Given the description of an element on the screen output the (x, y) to click on. 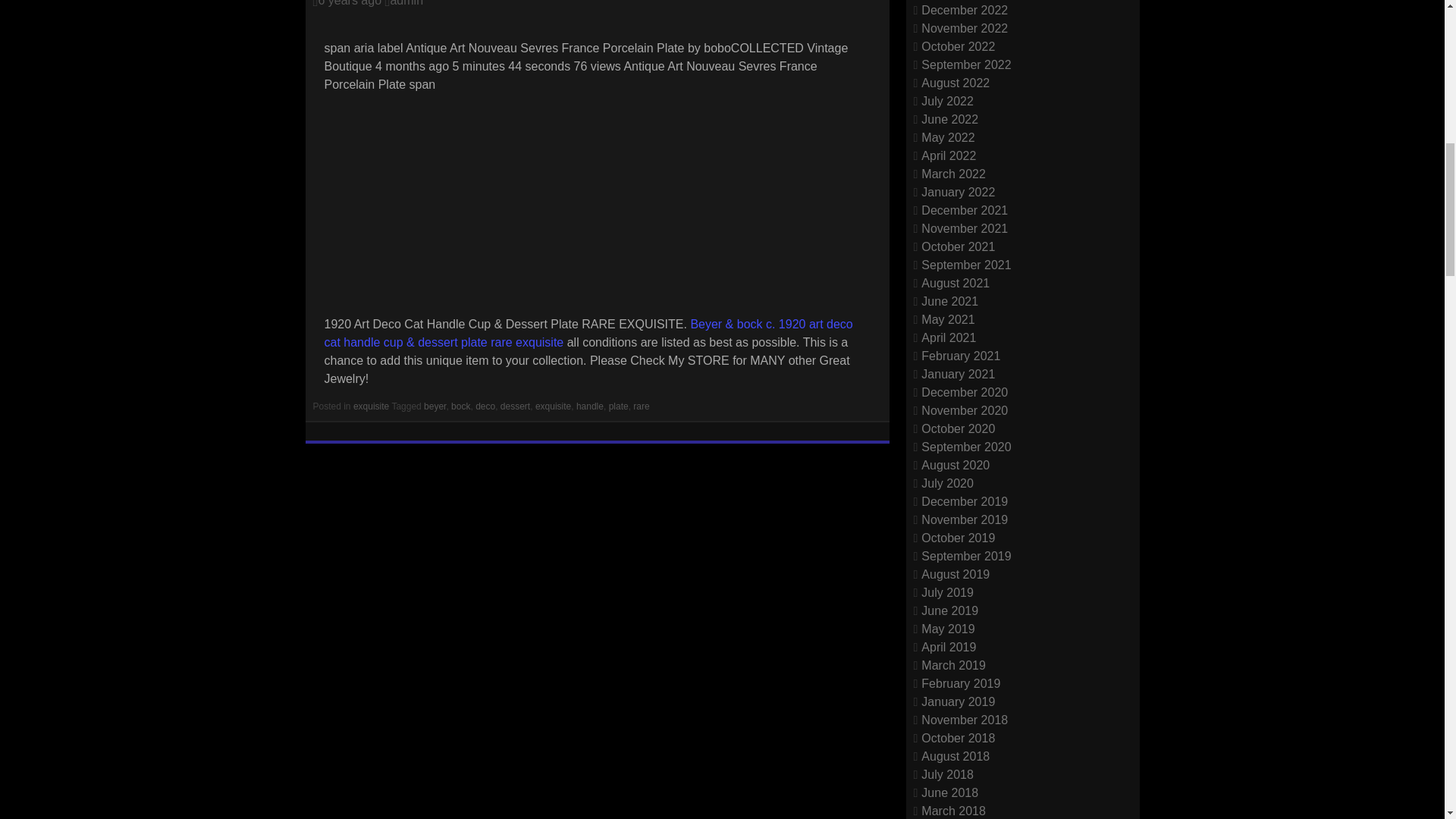
View all posts by admin (406, 3)
rare (641, 406)
2:00 pm (349, 3)
handle (590, 406)
deco (485, 406)
exquisite (370, 406)
plate (618, 406)
dessert (514, 406)
bock (460, 406)
6 years ago (349, 3)
